Given the description of an element on the screen output the (x, y) to click on. 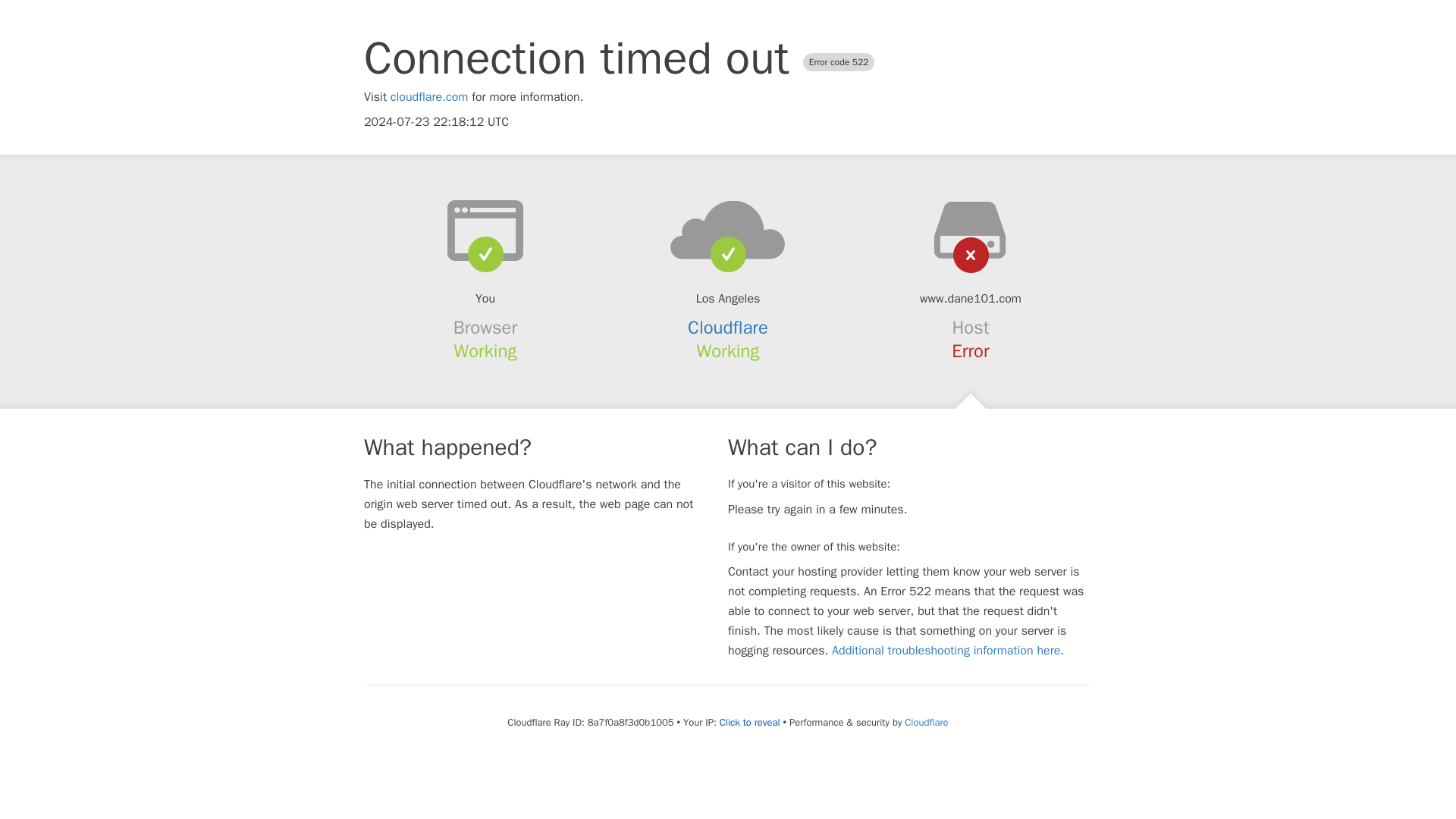
Cloudflare (925, 721)
Click to reveal (749, 722)
Additional troubleshooting information here. (947, 650)
cloudflare.com (429, 96)
Cloudflare (727, 327)
